Given the description of an element on the screen output the (x, y) to click on. 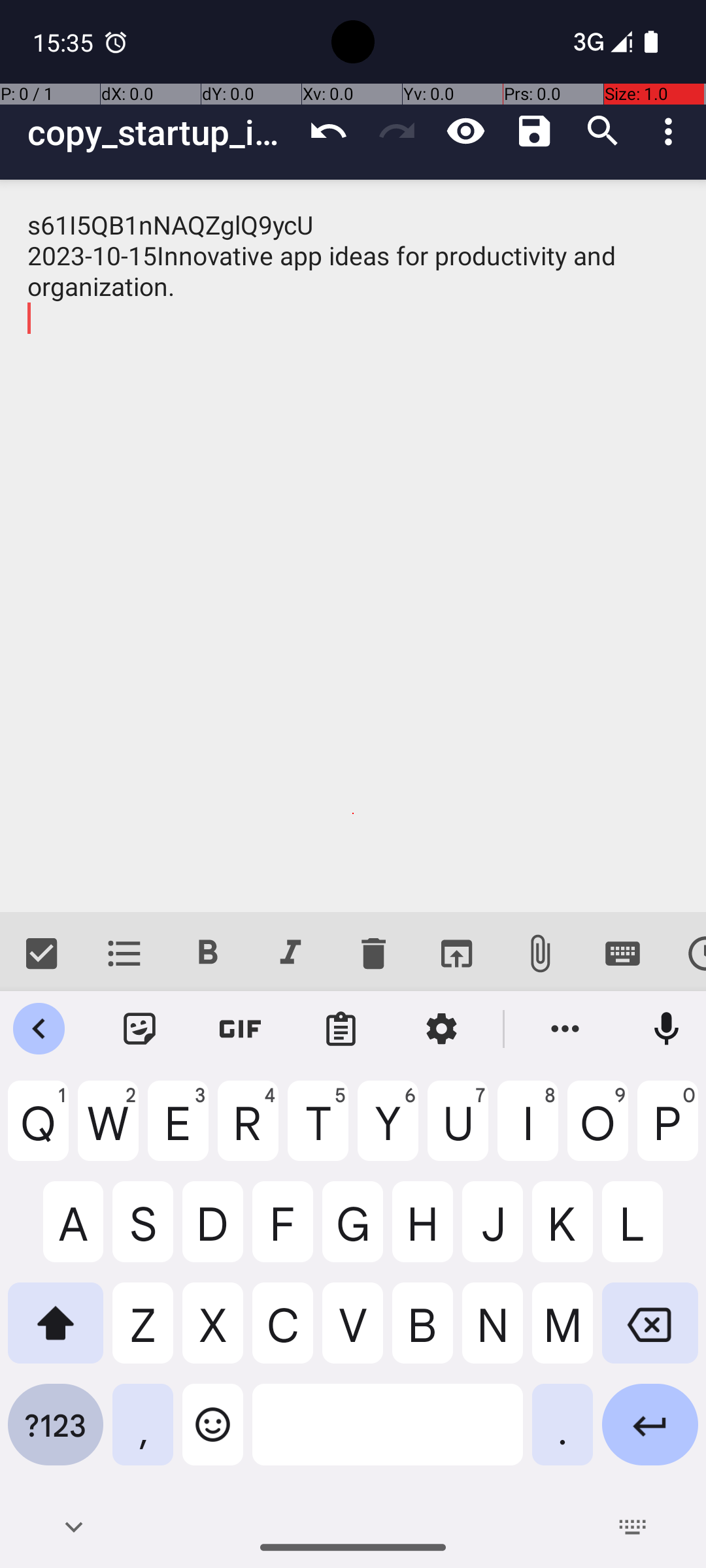
copy_startup_ideas_launch Element type: android.widget.TextView (160, 131)
s61I5QB1nNAQZglQ9ycU
2023-10-15Innovative app ideas for productivity and organization.
 Element type: android.widget.EditText (353, 545)
